Given the description of an element on the screen output the (x, y) to click on. 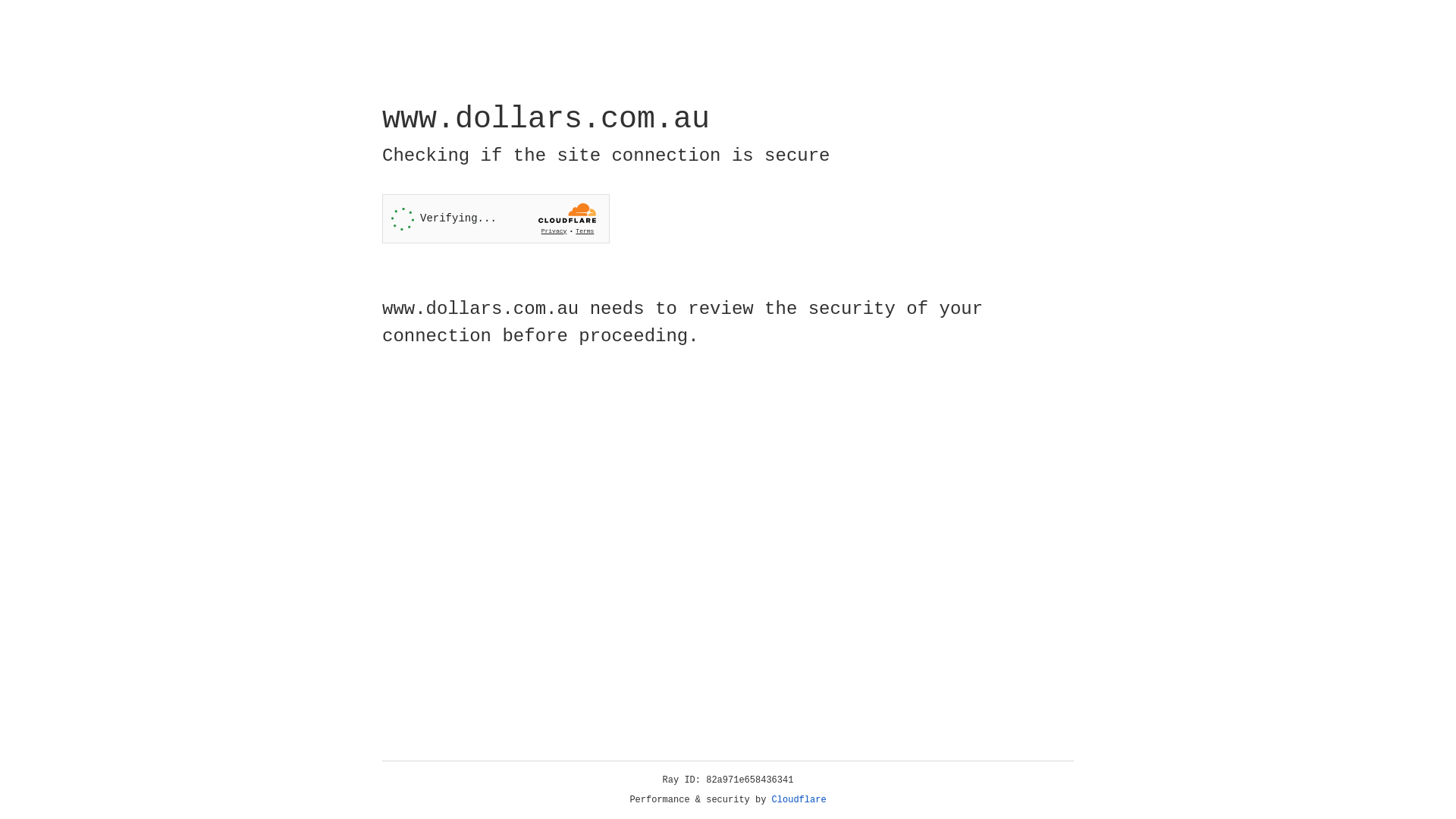
Cloudflare Element type: text (798, 799)
Widget containing a Cloudflare security challenge Element type: hover (495, 218)
